Given the description of an element on the screen output the (x, y) to click on. 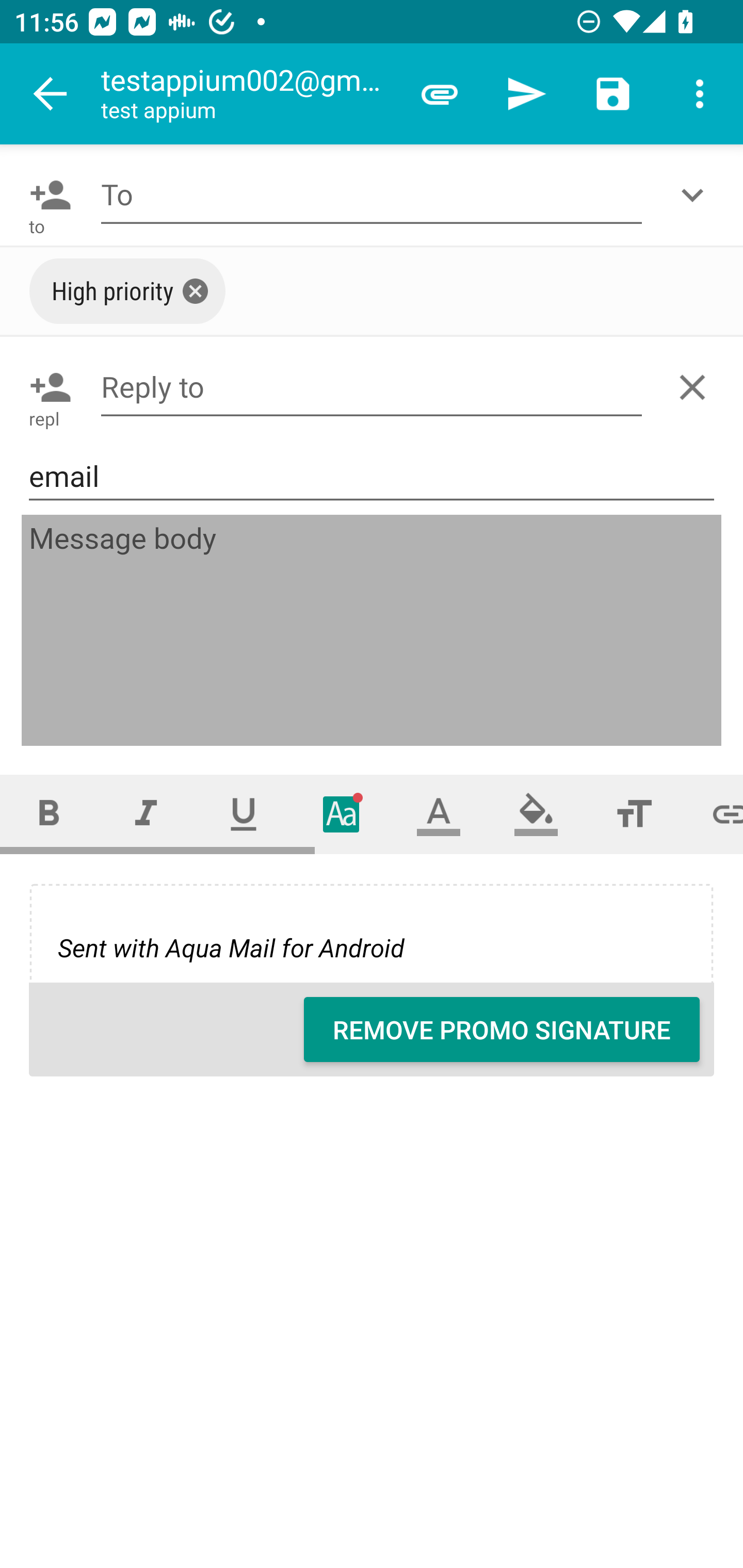
Navigate up (50, 93)
testappium002@gmail.com test appium (248, 93)
Attach (439, 93)
Send (525, 93)
Save (612, 93)
More options (699, 93)
Pick contact: To (46, 195)
Show/Add CC/BCC (696, 195)
To (371, 195)
High priority # (127, 291)
Pick contact: Reply to (46, 387)
Delete (696, 387)
Reply to (371, 387)
email (371, 475)
Message body (372, 631)
Bold (48, 814)
Italic (145, 814)
Underline (243, 814)
Typeface (font) (341, 814)
Text color (438, 814)
Fill color (536, 814)
Font size (633, 814)
REMOVE PROMO SIGNATURE (501, 1029)
